Given the description of an element on the screen output the (x, y) to click on. 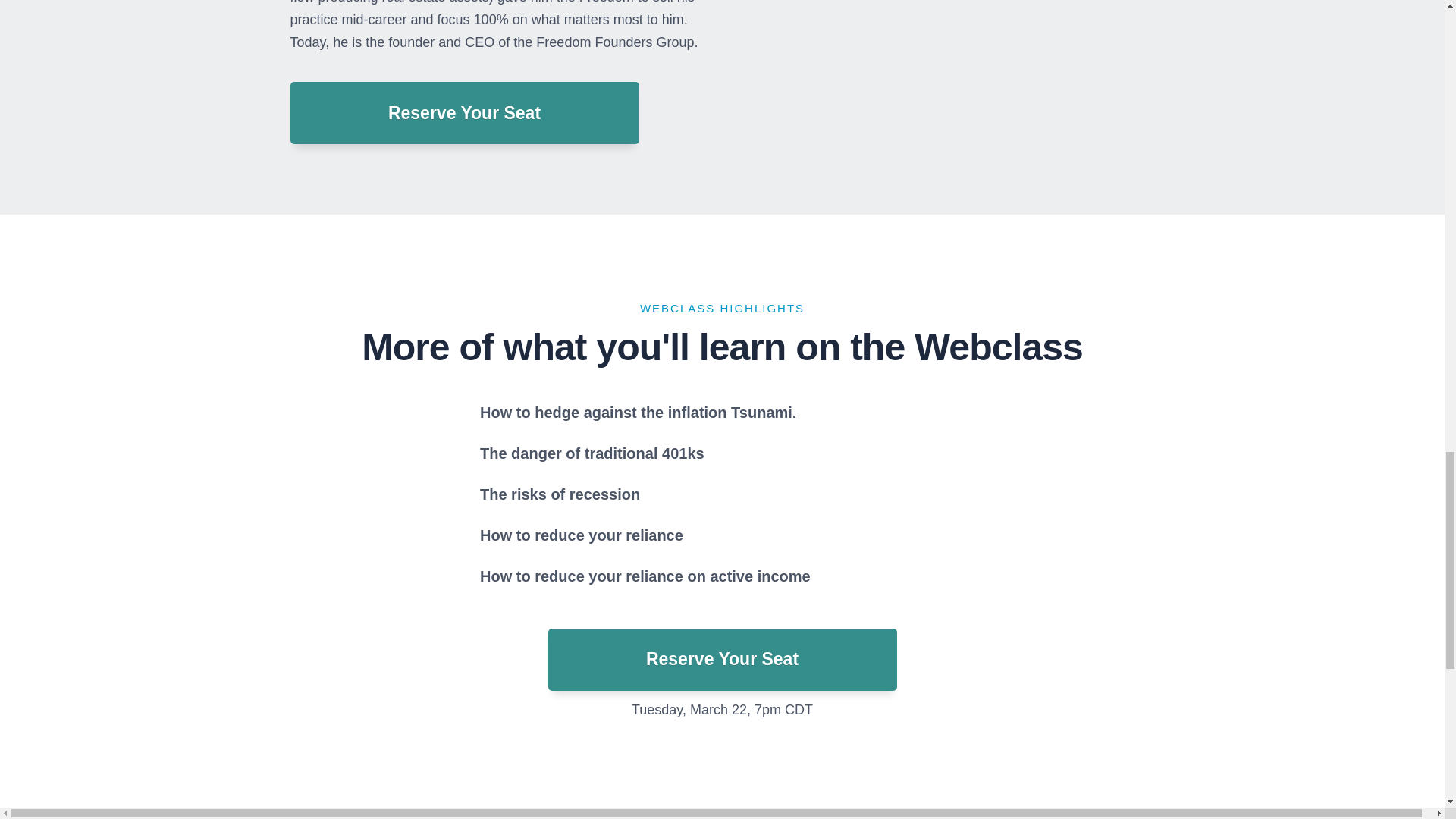
dr-david-phelps-freedom-founders (974, 76)
Reserve Your Seat (721, 659)
Reserve Your Seat (464, 112)
